Given the description of an element on the screen output the (x, y) to click on. 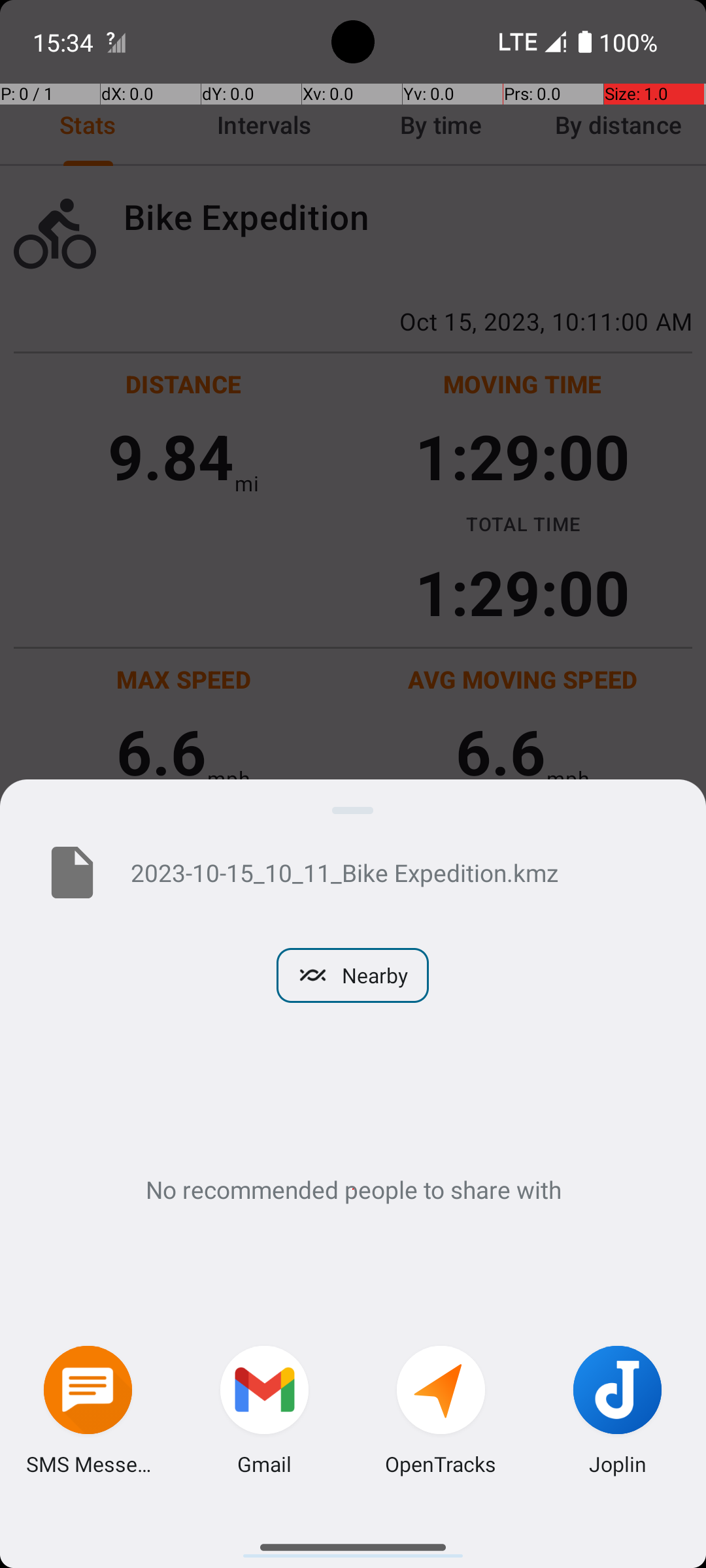
2023-10-15_10_11_Bike Expedition.kmz Element type: android.widget.TextView (397, 872)
